Given the description of an element on the screen output the (x, y) to click on. 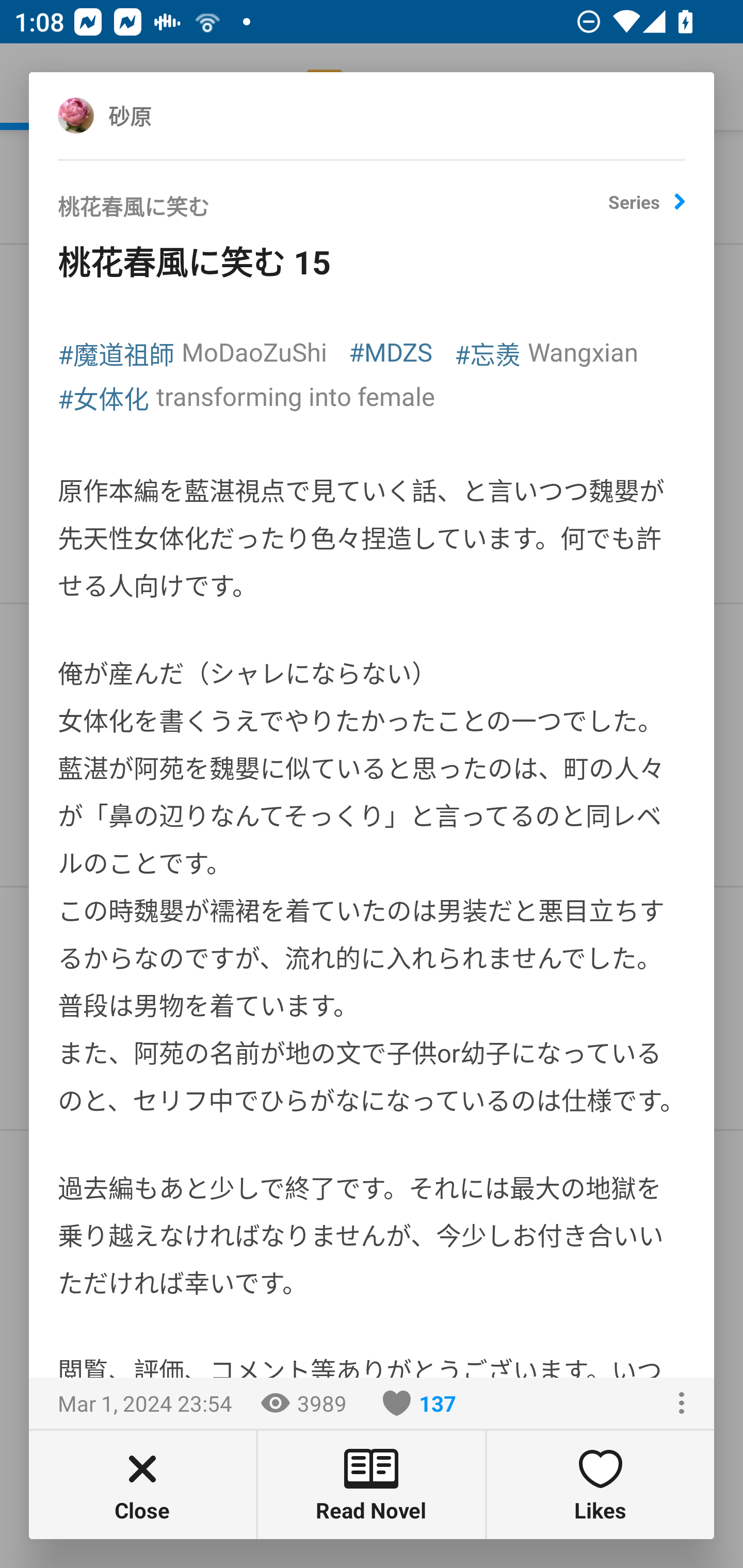
砂原 (151, 115)
桃花春風に笑む (332, 212)
Series (646, 208)
#魔道祖師 (115, 352)
MoDaoZuShi (253, 350)
#MDZS (390, 350)
#忘羨 (487, 352)
Wangxian (582, 350)
#女体化 (103, 397)
transforming into female (295, 395)
137 (419, 1403)
Close (141, 1484)
Read Novel (371, 1484)
